Given the description of an element on the screen output the (x, y) to click on. 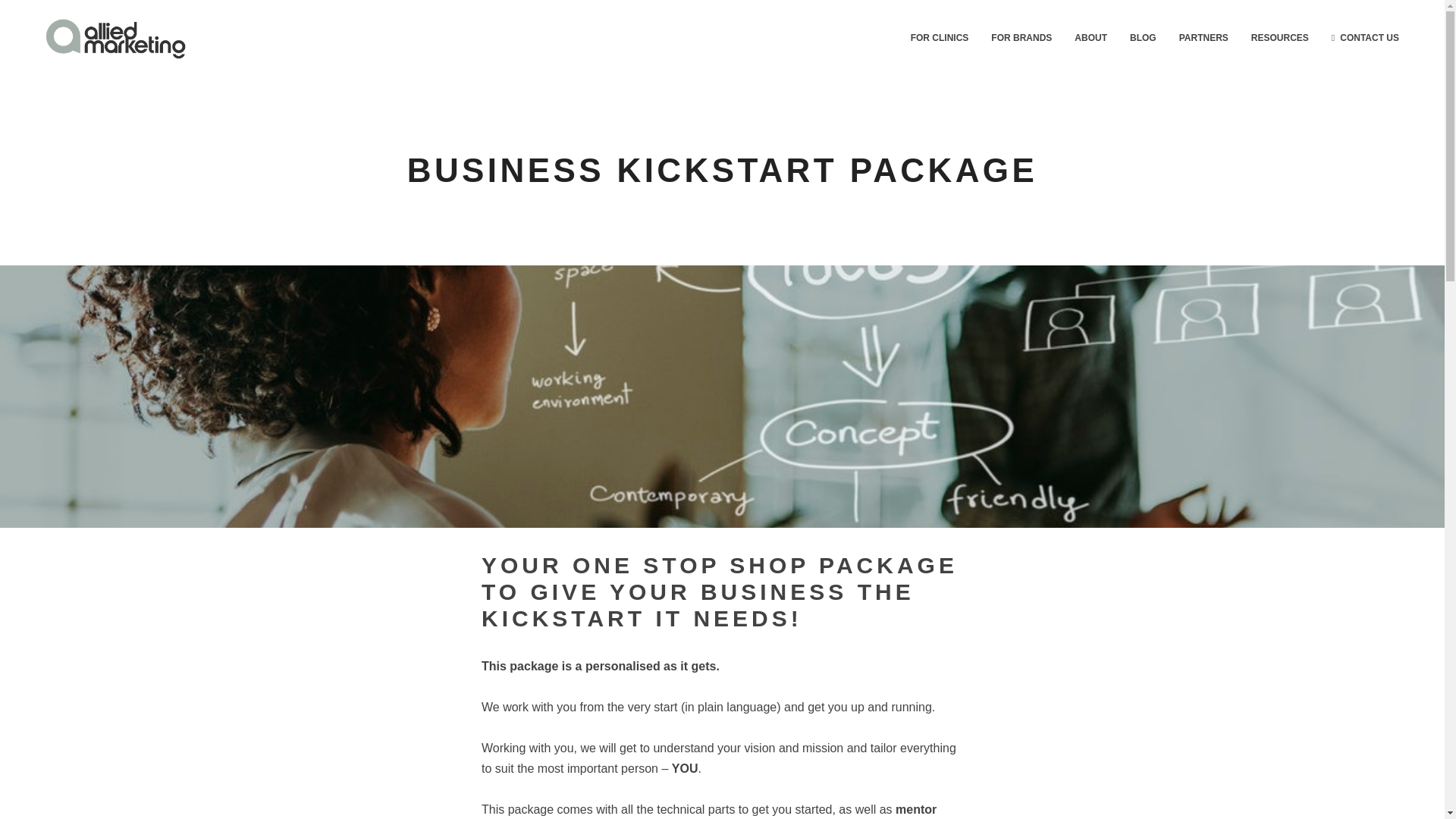
FOR BRANDS (1020, 38)
FOR CLINICS (939, 38)
CONTACT US (1365, 38)
PARTNERS (1203, 38)
RESOURCES (1280, 38)
